Given the description of an element on the screen output the (x, y) to click on. 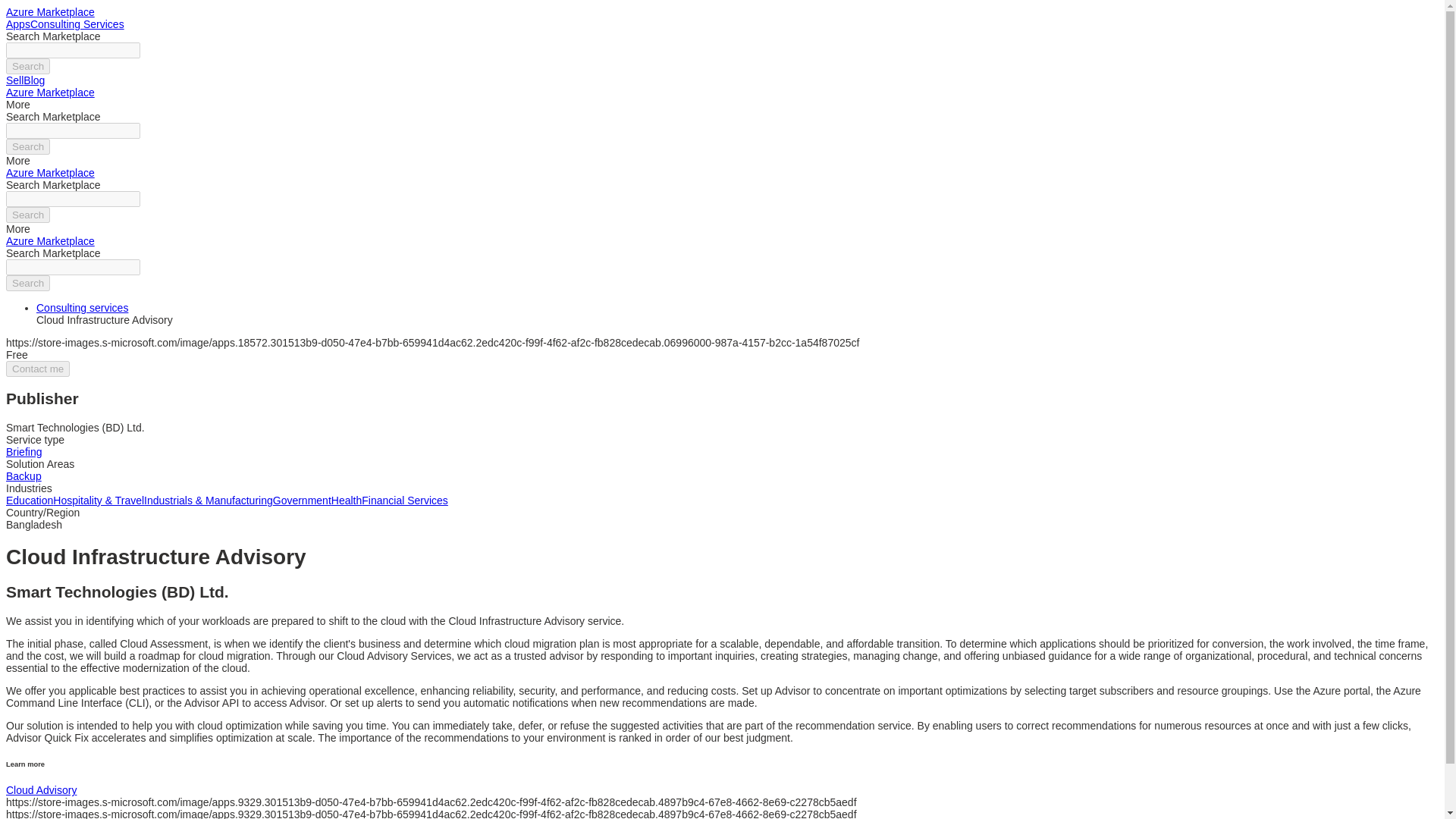
Azure Marketplace (49, 241)
Search (27, 283)
Consulting Services (76, 24)
Contact me (37, 368)
Azure Marketplace (49, 173)
Cloud Advisory (41, 789)
Briefing (23, 451)
Azure Marketplace (49, 92)
Health (346, 500)
Blog (34, 80)
